Given the description of an element on the screen output the (x, y) to click on. 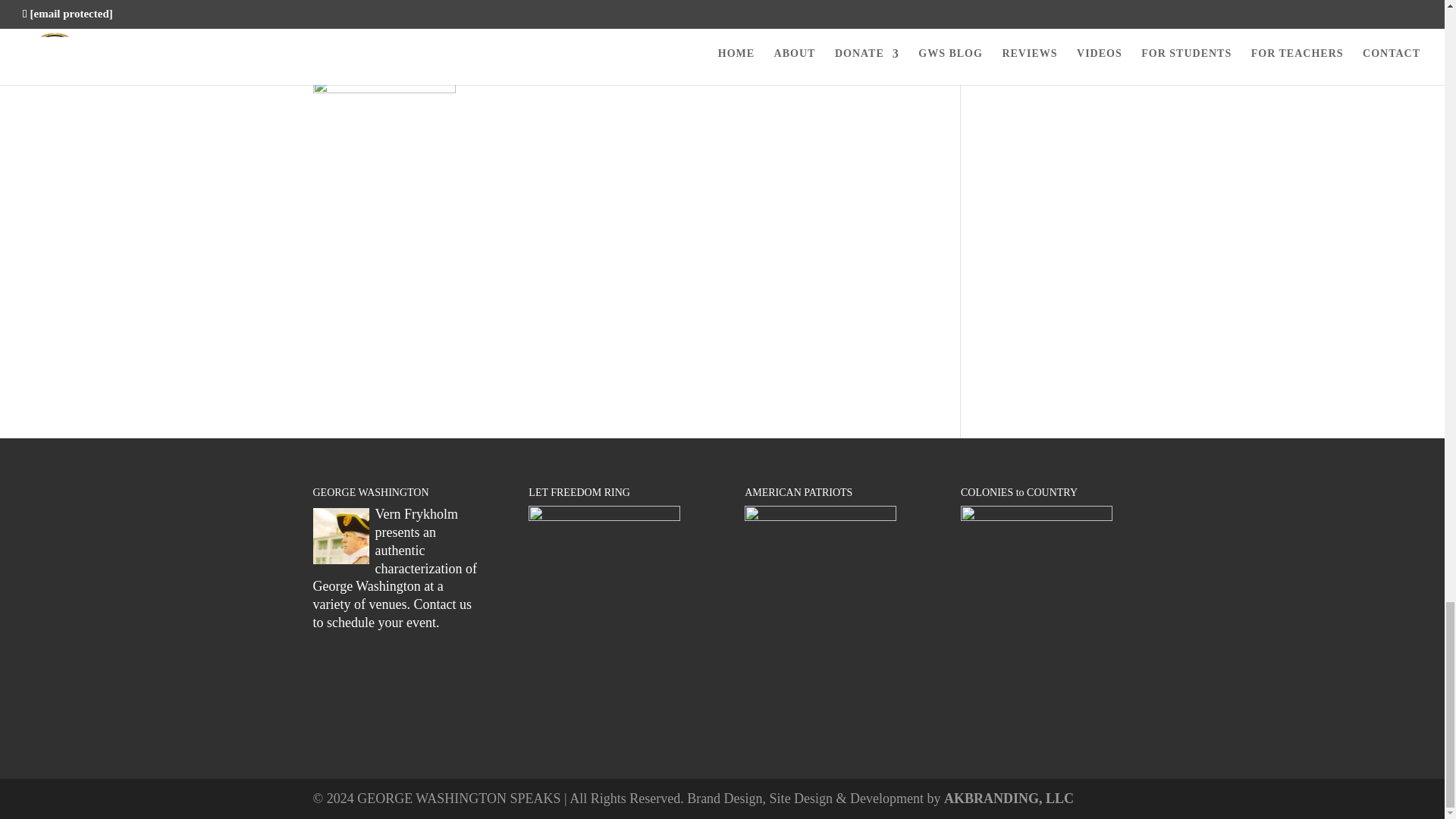
AKBRANDING, LLC (1008, 798)
larsdhhedbor.com (596, 17)
